Given the description of an element on the screen output the (x, y) to click on. 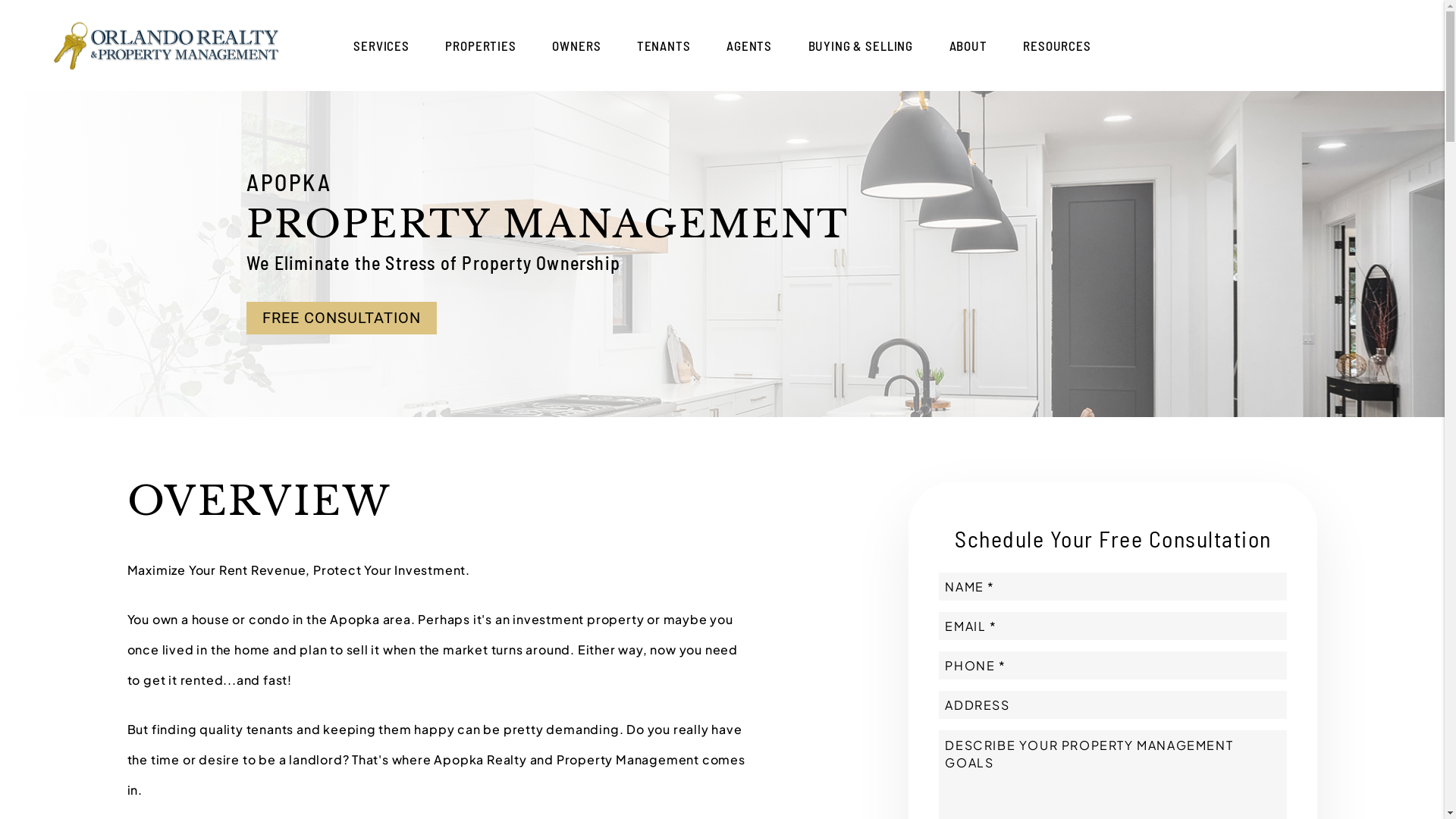
BUYING & SELLING Element type: text (860, 45)
AGENTS Element type: text (748, 45)
RESOURCES Element type: text (1056, 45)
TENANTS Element type: text (663, 45)
ABOUT Element type: text (968, 45)
SERVICES Element type: text (381, 45)
OWNERS Element type: text (576, 45)
PROPERTIES Element type: text (480, 45)
FREE CONSULTATION Element type: text (341, 317)
